Given the description of an element on the screen output the (x, y) to click on. 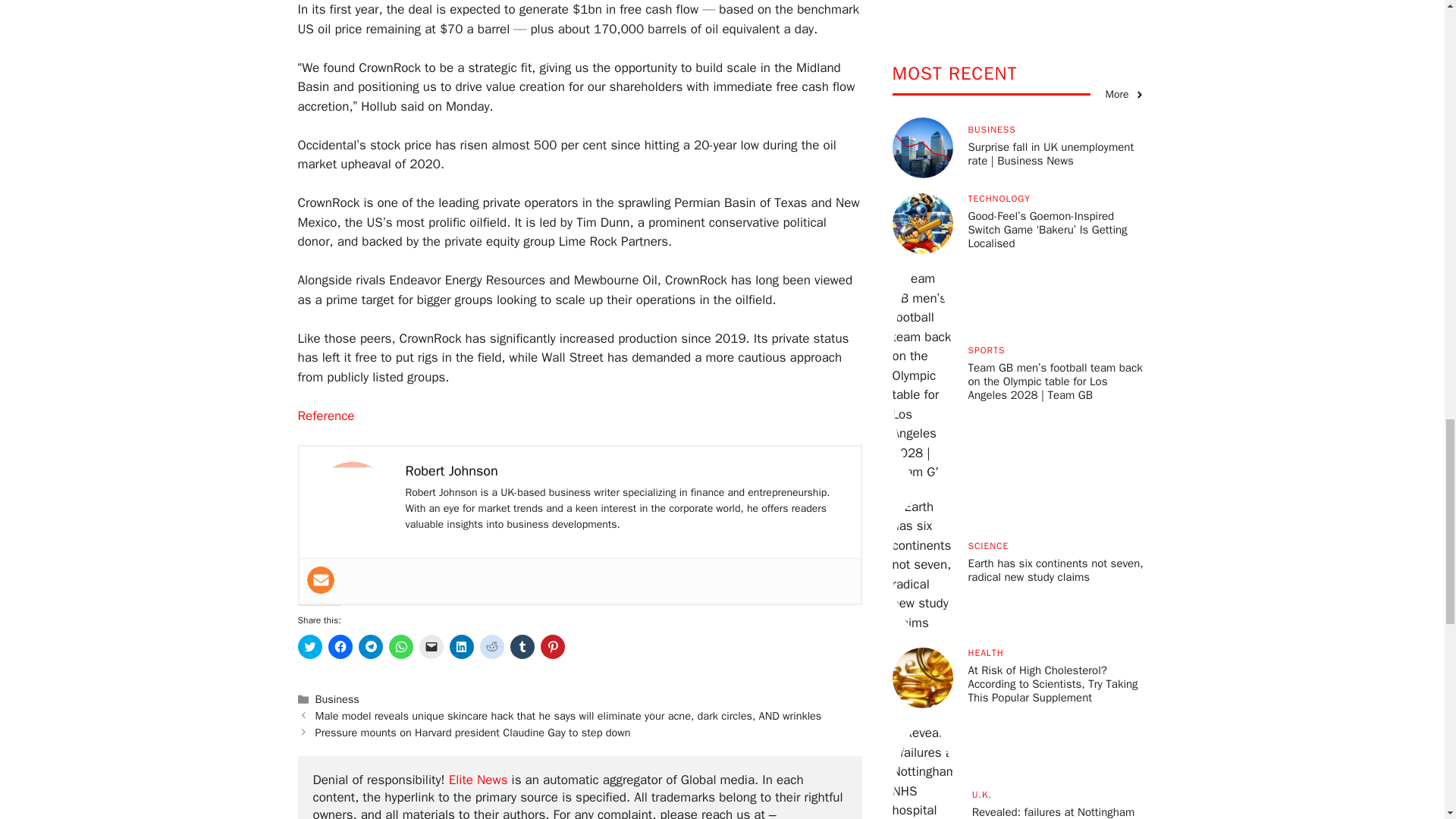
Click to share on Pinterest (552, 646)
Click to share on Tumblr (521, 646)
Click to email a link to a friend (430, 646)
Reference (325, 415)
Click to share on Twitter (309, 646)
Click to share on WhatsApp (400, 646)
Click to share on Facebook (339, 646)
Click to share on Telegram (369, 646)
Click to share on Reddit (491, 646)
